Given the description of an element on the screen output the (x, y) to click on. 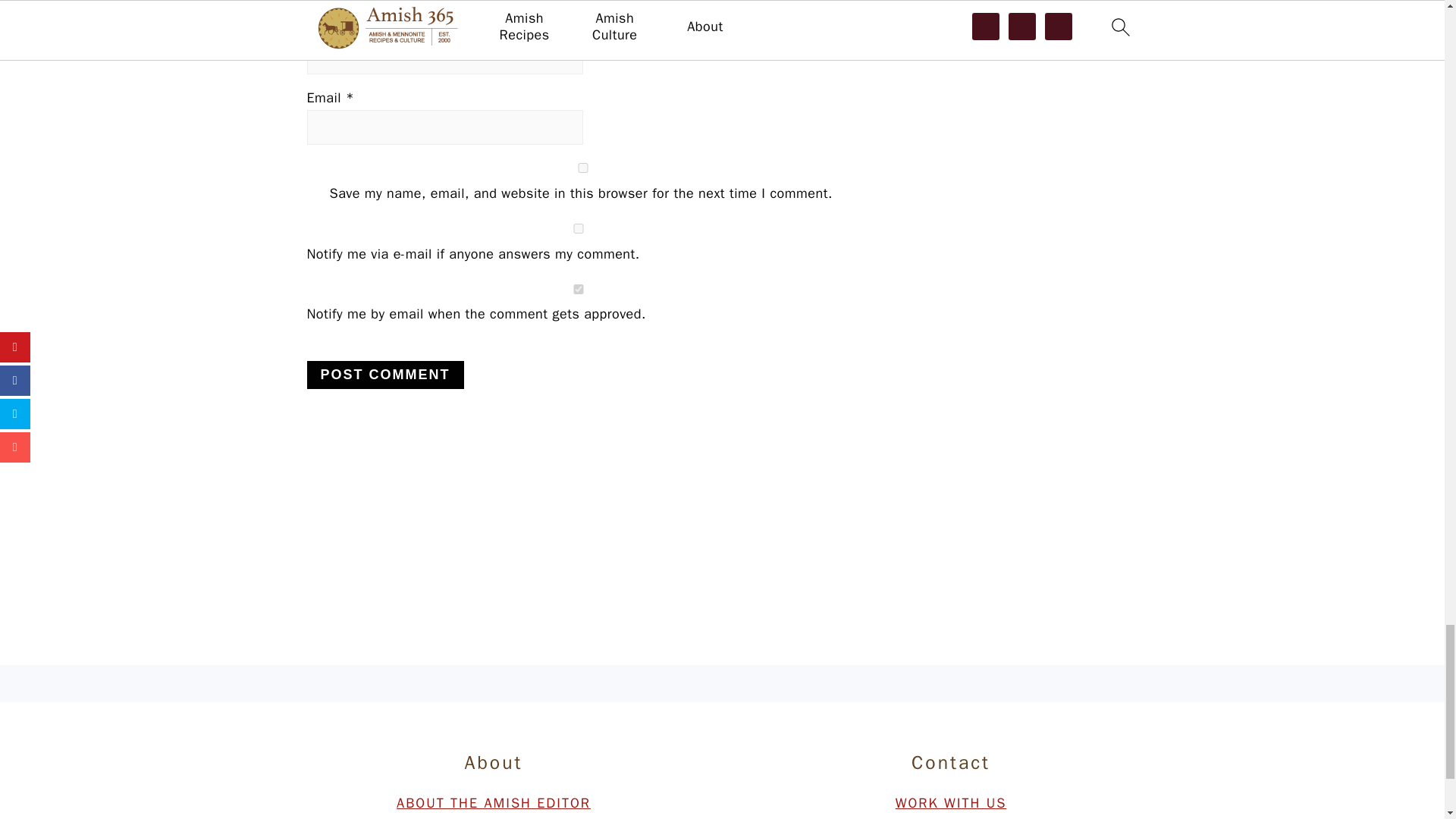
Post Comment (384, 375)
yes (582, 167)
on (576, 228)
1 (576, 289)
